Given the description of an element on the screen output the (x, y) to click on. 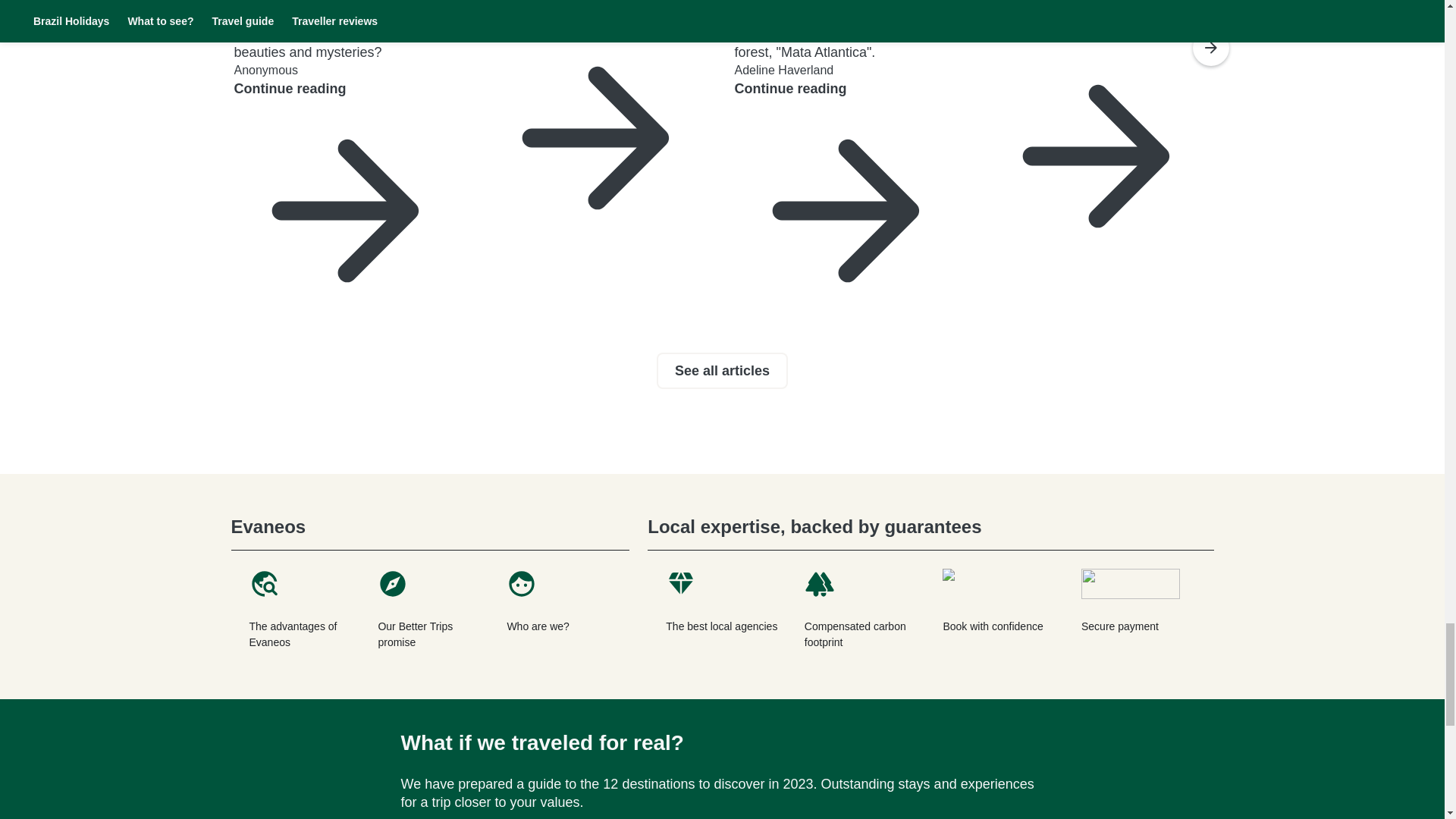
The advantages of Evaneos (300, 609)
Compensated carbon footprint (861, 609)
See all articles (721, 370)
Who are we? (559, 609)
The best local agencies (722, 609)
Our Better Trips promise (430, 609)
